Given the description of an element on the screen output the (x, y) to click on. 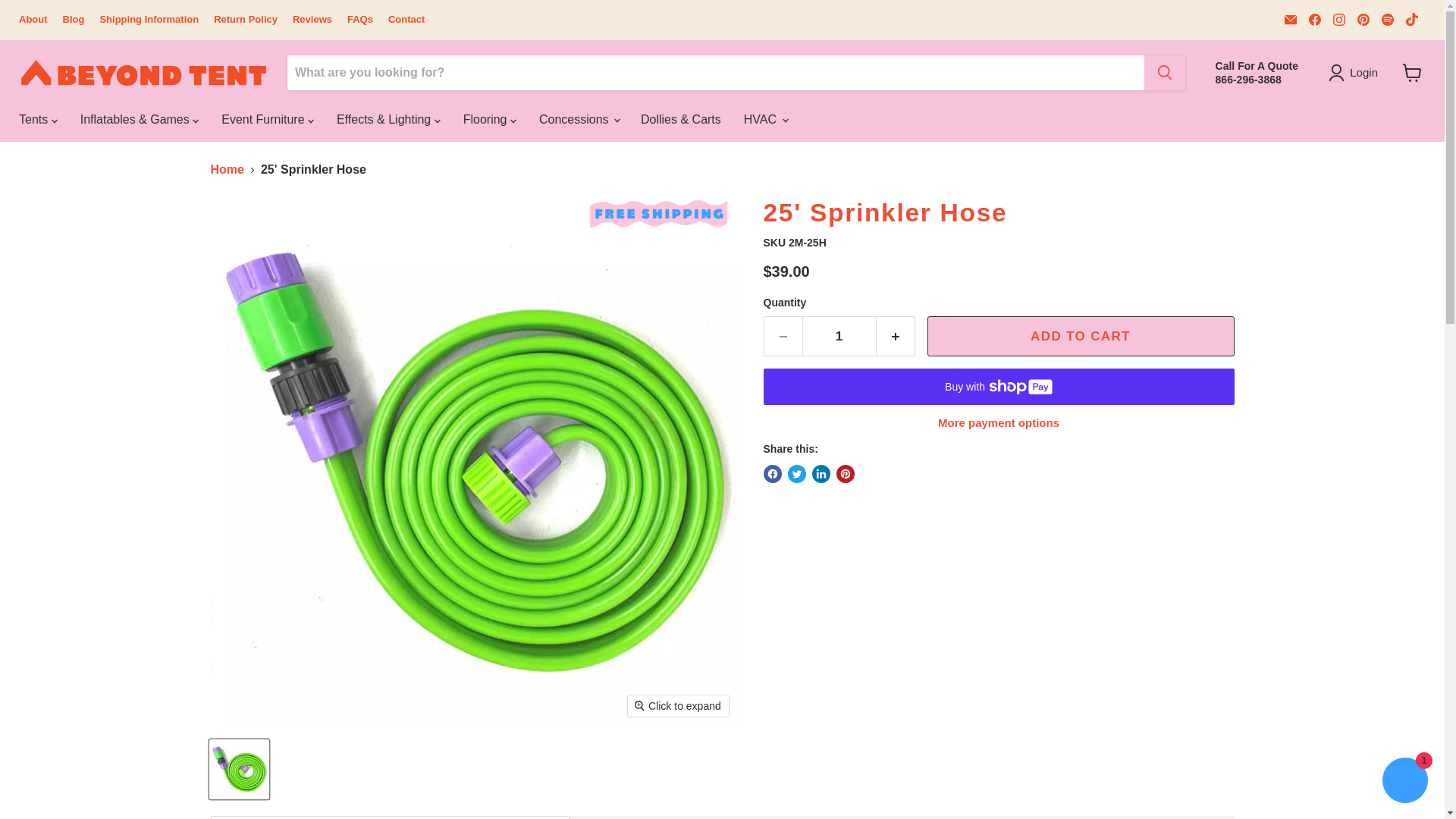
1 (839, 336)
Find us on TikTok (1411, 19)
View cart (1411, 72)
Login (1355, 72)
Email Beyond Tent (1290, 19)
Spotify (1387, 19)
Find us on Pinterest (1363, 19)
Reviews (311, 19)
About (33, 19)
Find us on Instagram (1338, 19)
Pinterest (1363, 19)
Return Policy (246, 19)
Find us on Facebook (1314, 19)
FAQs (359, 19)
Find us on Spotify (1387, 19)
